Given the description of an element on the screen output the (x, y) to click on. 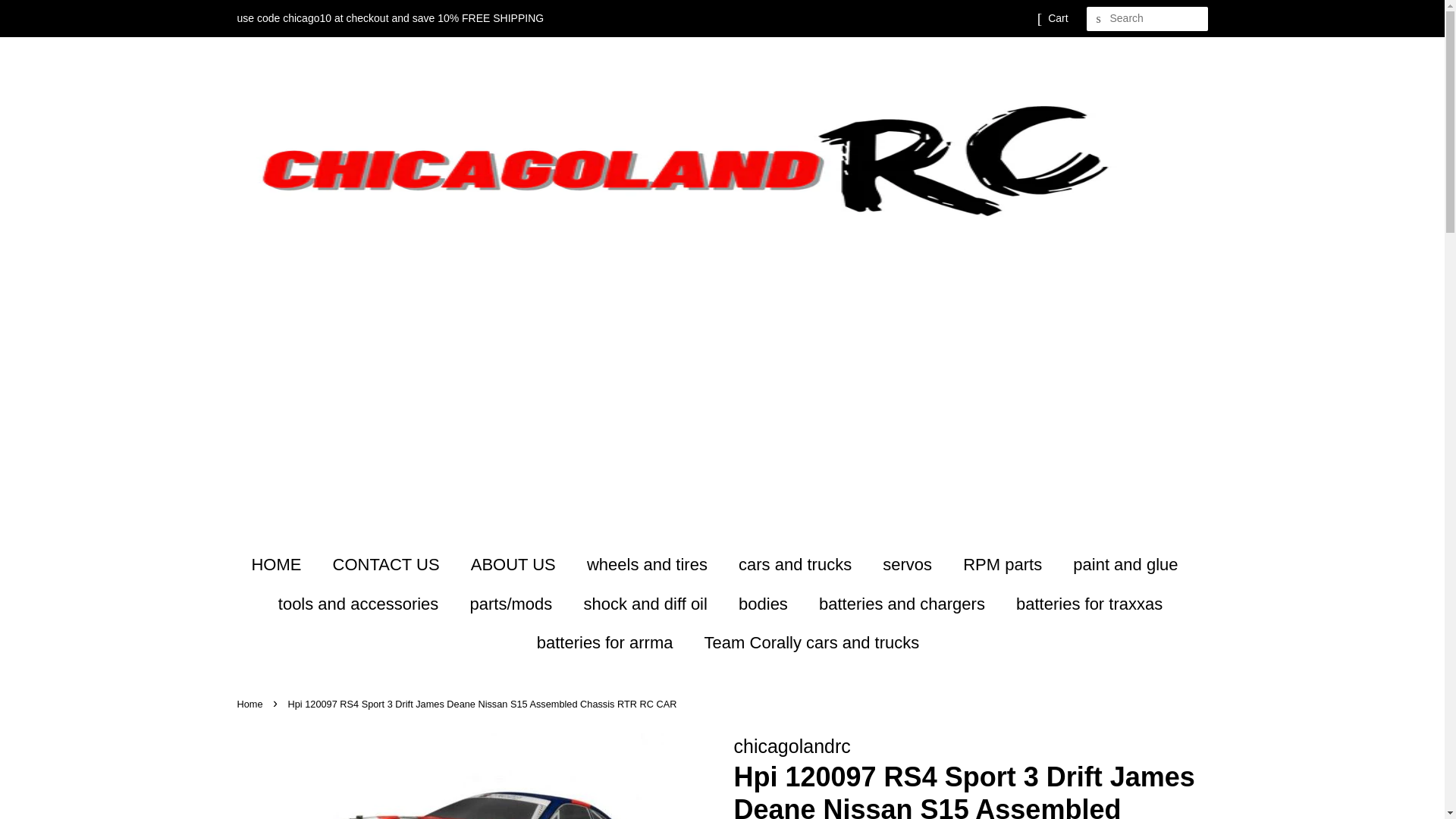
Cart (1057, 18)
batteries for arrma (606, 642)
shock and diff oil (647, 603)
tools and accessories (360, 603)
Search (1097, 18)
Team Corally cars and trucks (806, 642)
HOME (282, 564)
RPM parts (1004, 564)
paint and glue (1126, 564)
cars and trucks (796, 564)
